Given the description of an element on the screen output the (x, y) to click on. 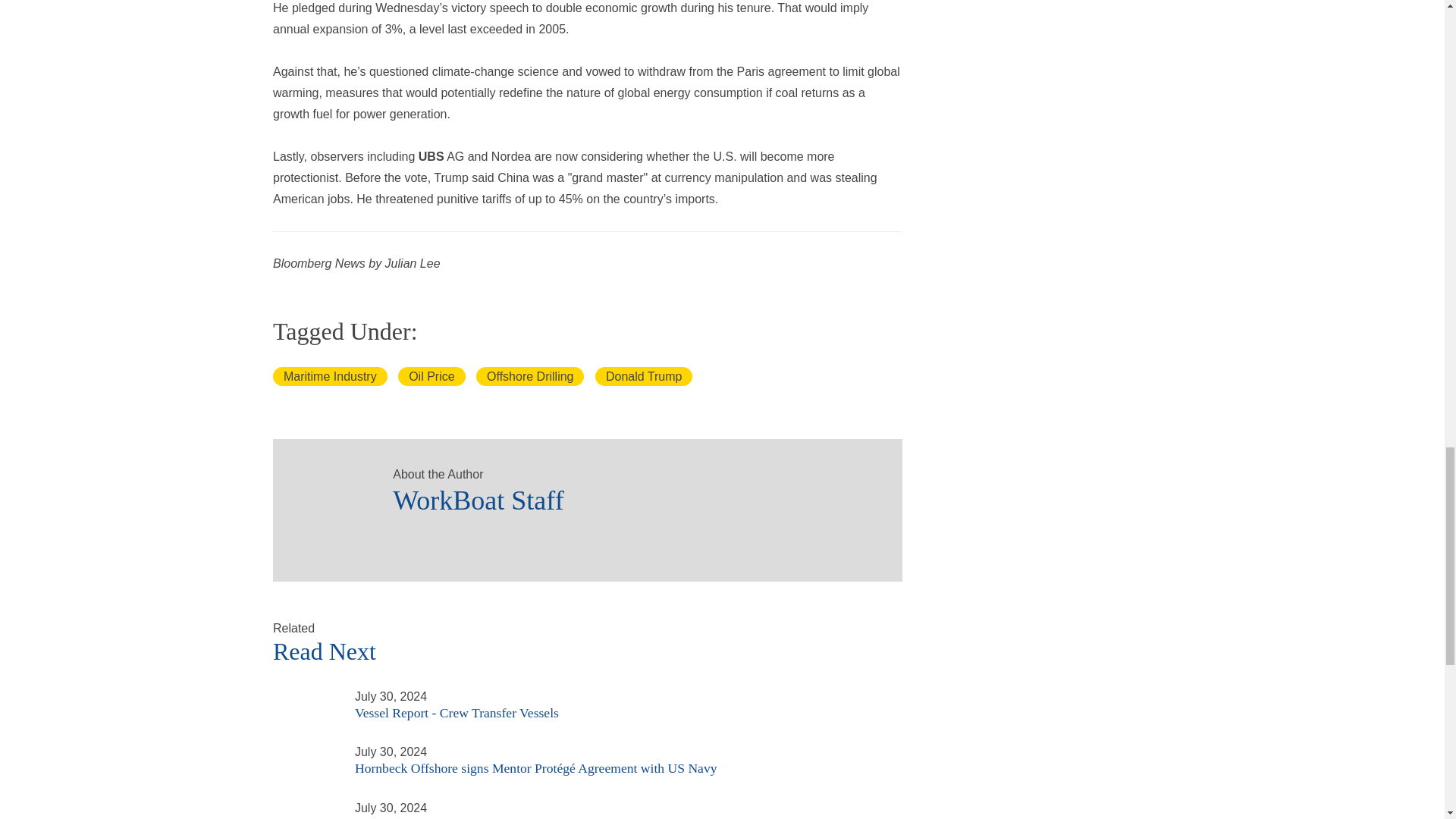
WorkBoat Staff (631, 495)
WorkBoat Staff (325, 492)
BSEE extends Vineyard Wind suspension (304, 806)
Vessel Report - Crew Transfer Vessels (304, 695)
